Given the description of an element on the screen output the (x, y) to click on. 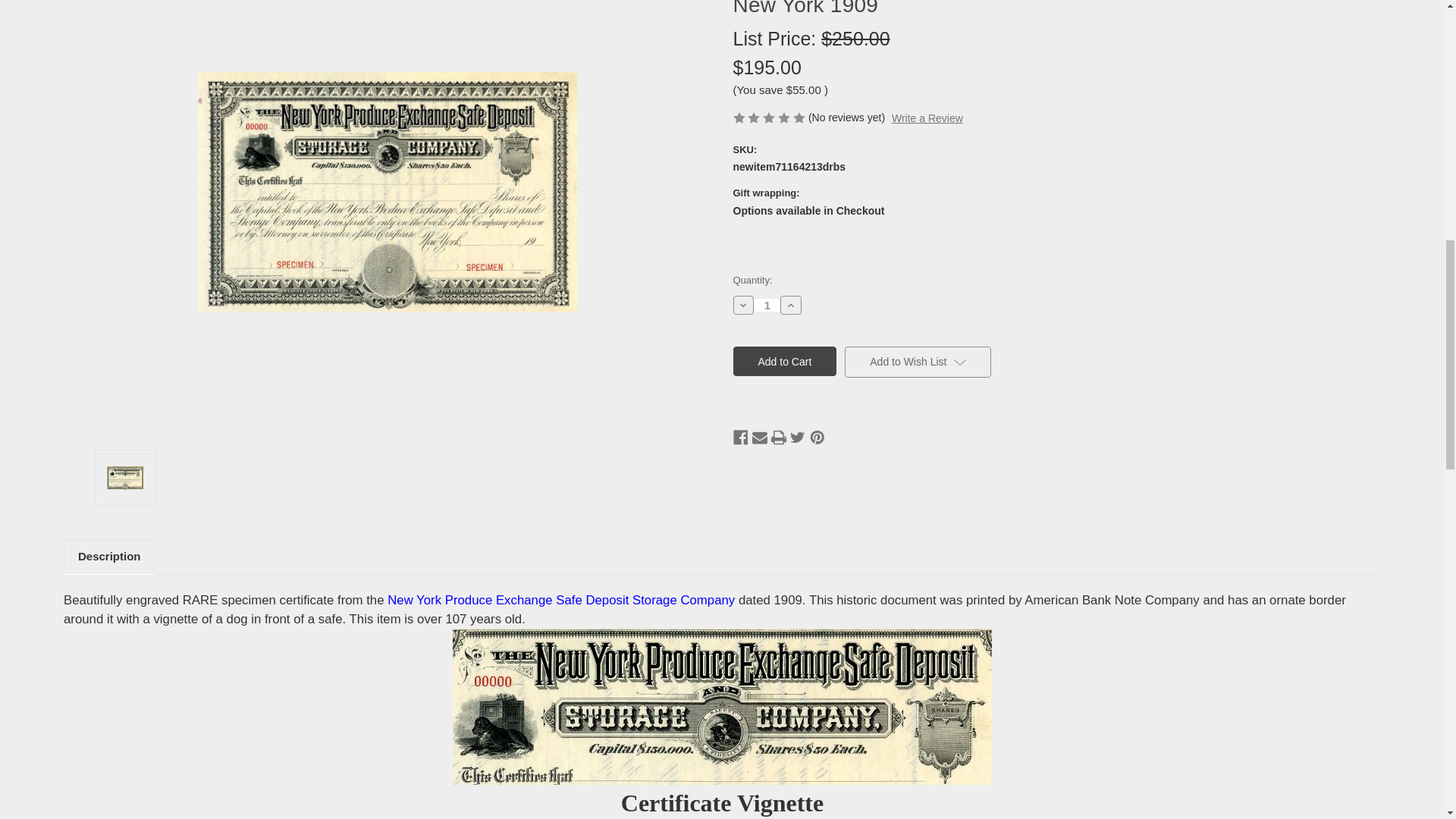
1 (767, 305)
Add to Cart (783, 361)
